Given the description of an element on the screen output the (x, y) to click on. 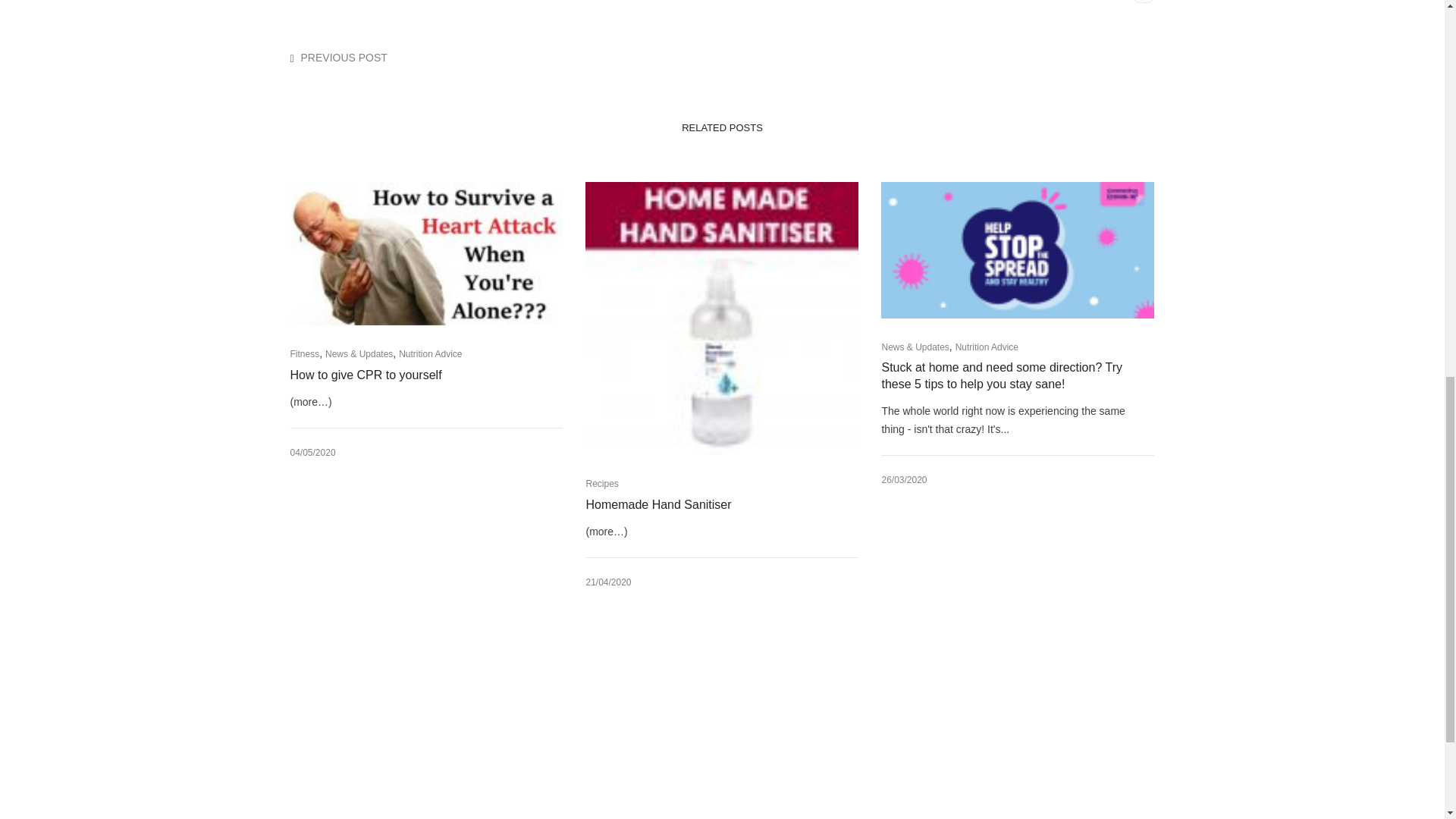
Recipes (601, 483)
Fitness (303, 353)
How to give CPR to yourself (412, 375)
Like (1142, 1)
Nutrition Advice (429, 353)
PREVIOUS POST (344, 57)
